Given the description of an element on the screen output the (x, y) to click on. 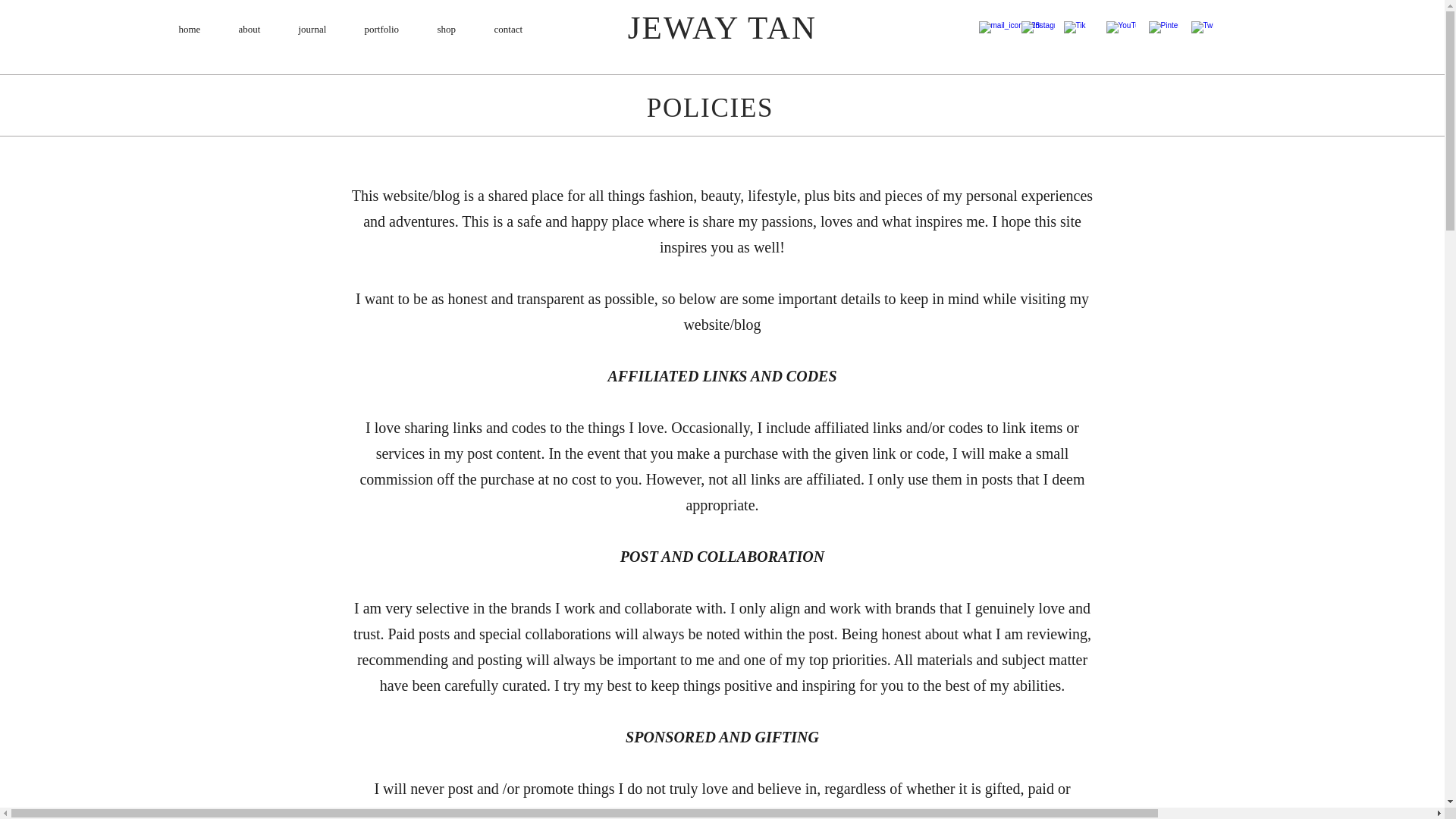
home (188, 29)
shop (447, 29)
contact (507, 29)
POLICIES (710, 107)
JEWAY TAN (721, 27)
about (249, 29)
